Given the description of an element on the screen output the (x, y) to click on. 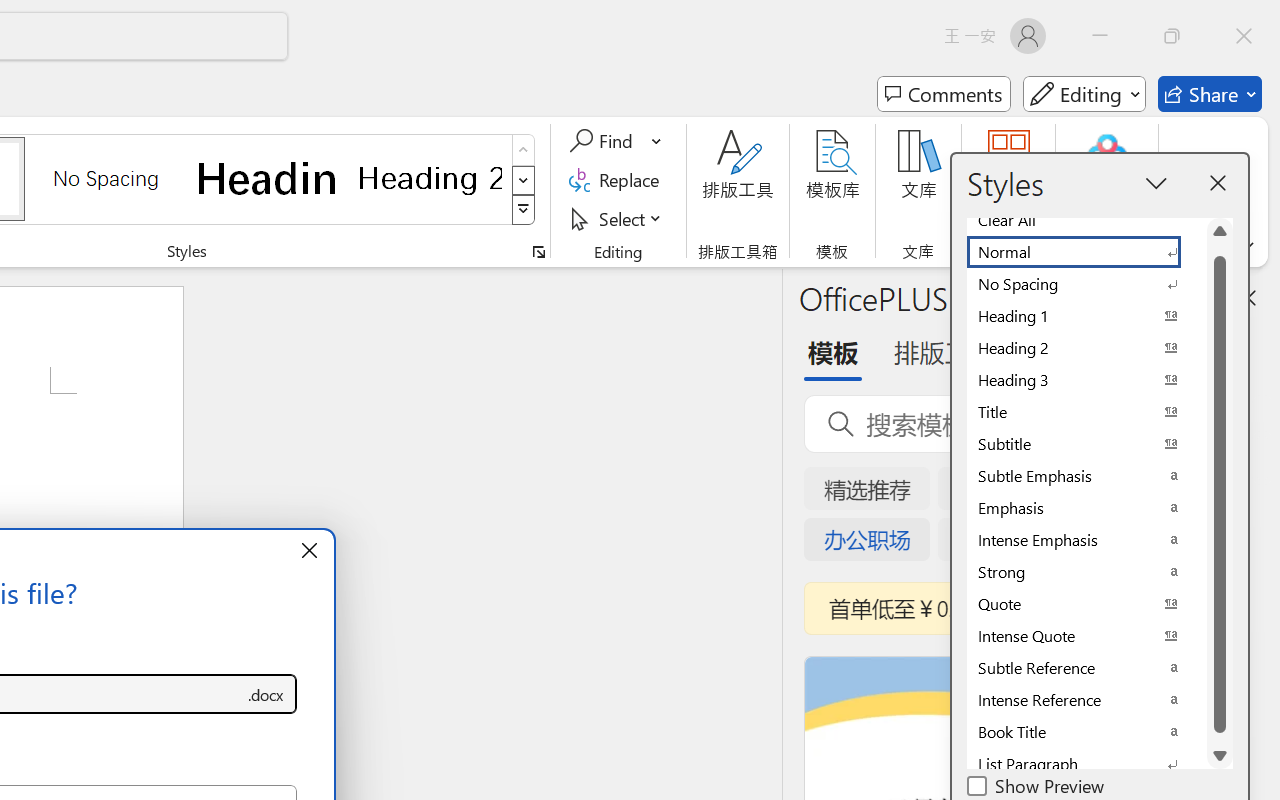
Emphasis (1086, 508)
Heading 2 (429, 178)
Close (1244, 36)
Subtle Reference (1086, 668)
Mode (1083, 94)
No Spacing (1086, 284)
Select (618, 218)
Comments (943, 94)
Class: NetUIImage (523, 210)
Task Pane Options (1186, 297)
